Given the description of an element on the screen output the (x, y) to click on. 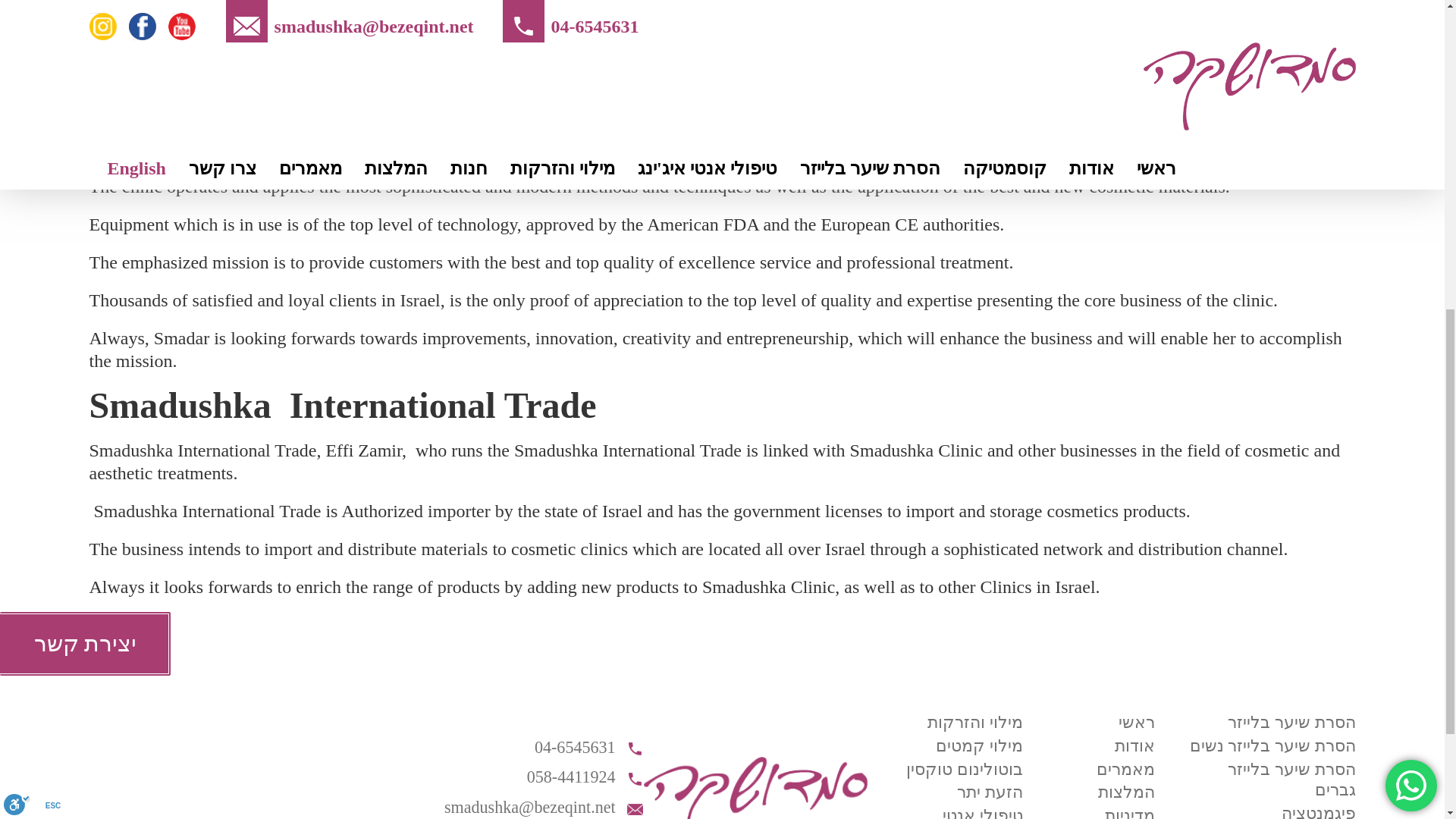
04-6545631 (538, 747)
058-4411924 (538, 776)
